Given the description of an element on the screen output the (x, y) to click on. 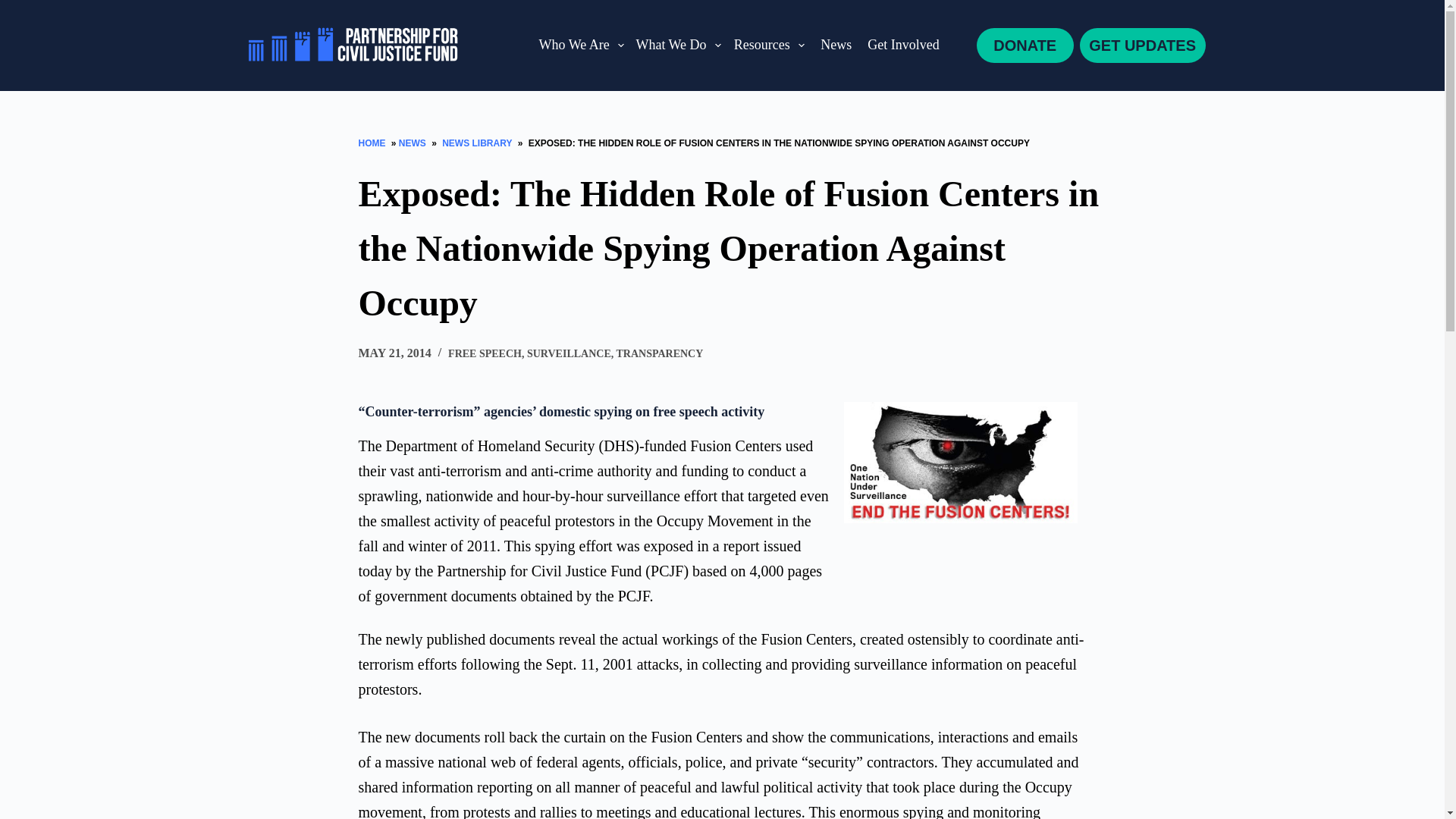
Skip to content (15, 7)
What We Do (678, 45)
NEWS (413, 143)
HOME (373, 143)
NEWS LIBRARY (477, 143)
DONATE (1025, 45)
GET UPDATES (1142, 45)
Who We Are (581, 45)
